Given the description of an element on the screen output the (x, y) to click on. 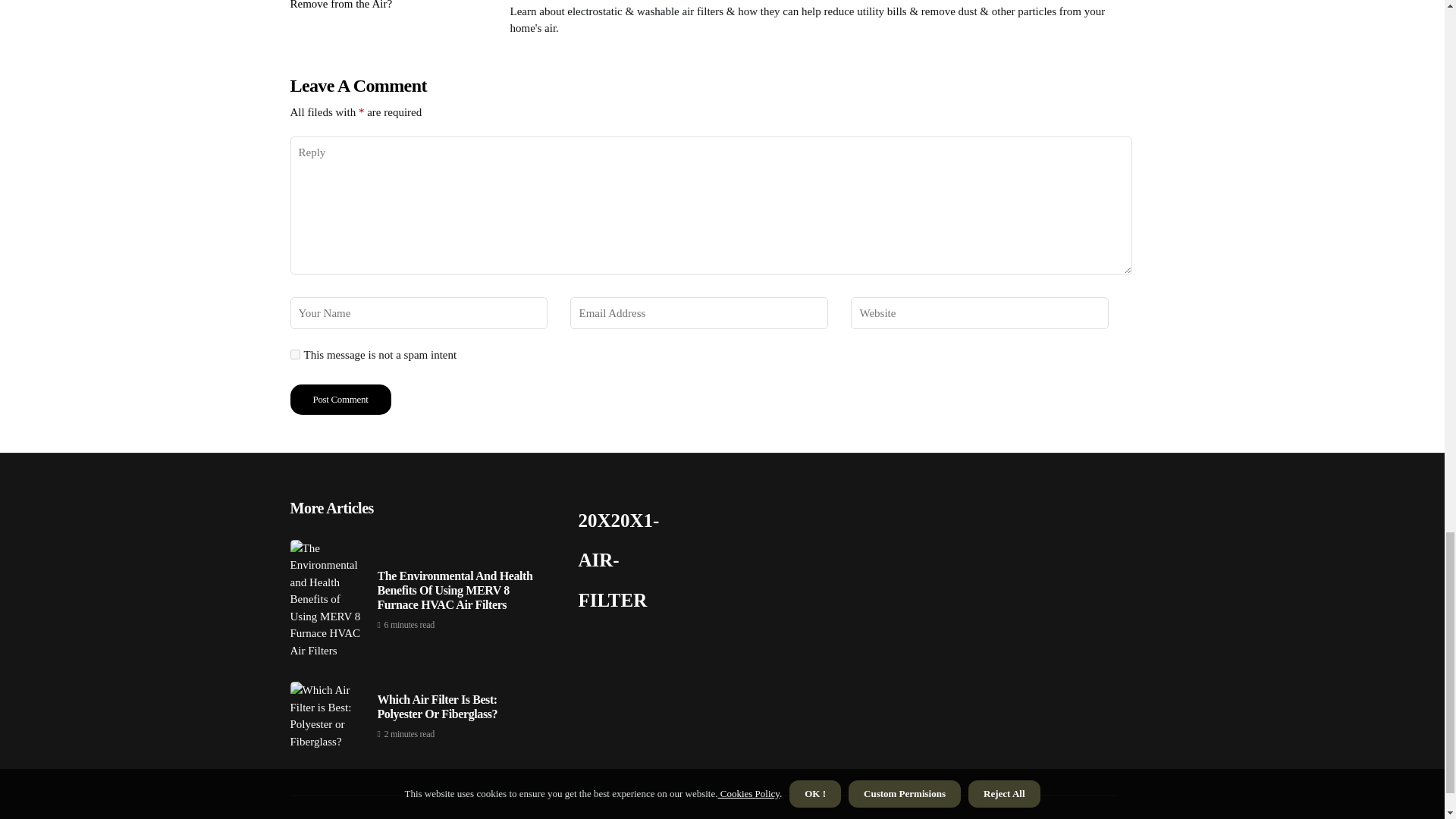
yes (294, 354)
Post Comment (339, 399)
Post Comment (339, 399)
